Given the description of an element on the screen output the (x, y) to click on. 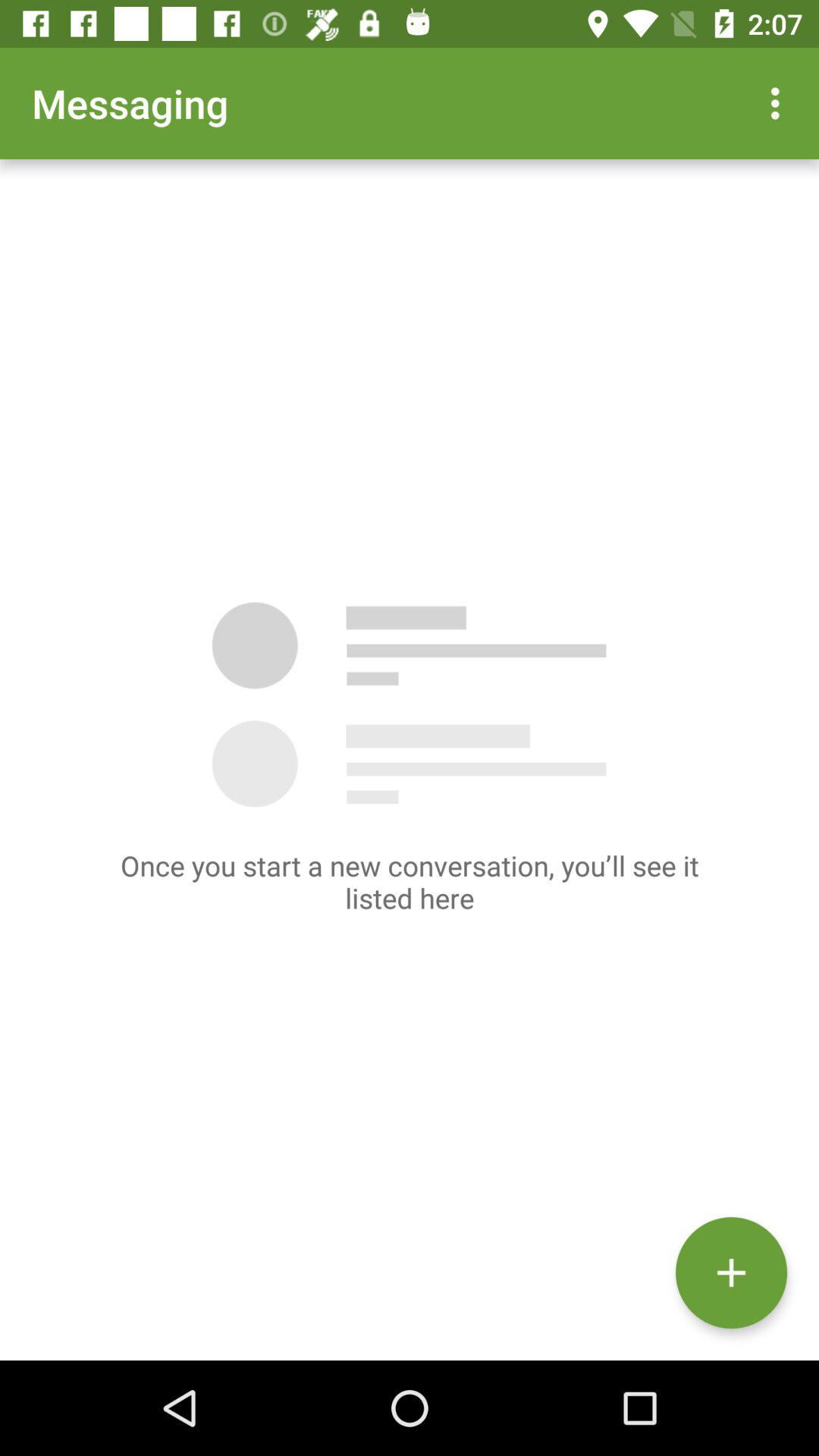
choose app next to the messaging item (779, 103)
